Given the description of an element on the screen output the (x, y) to click on. 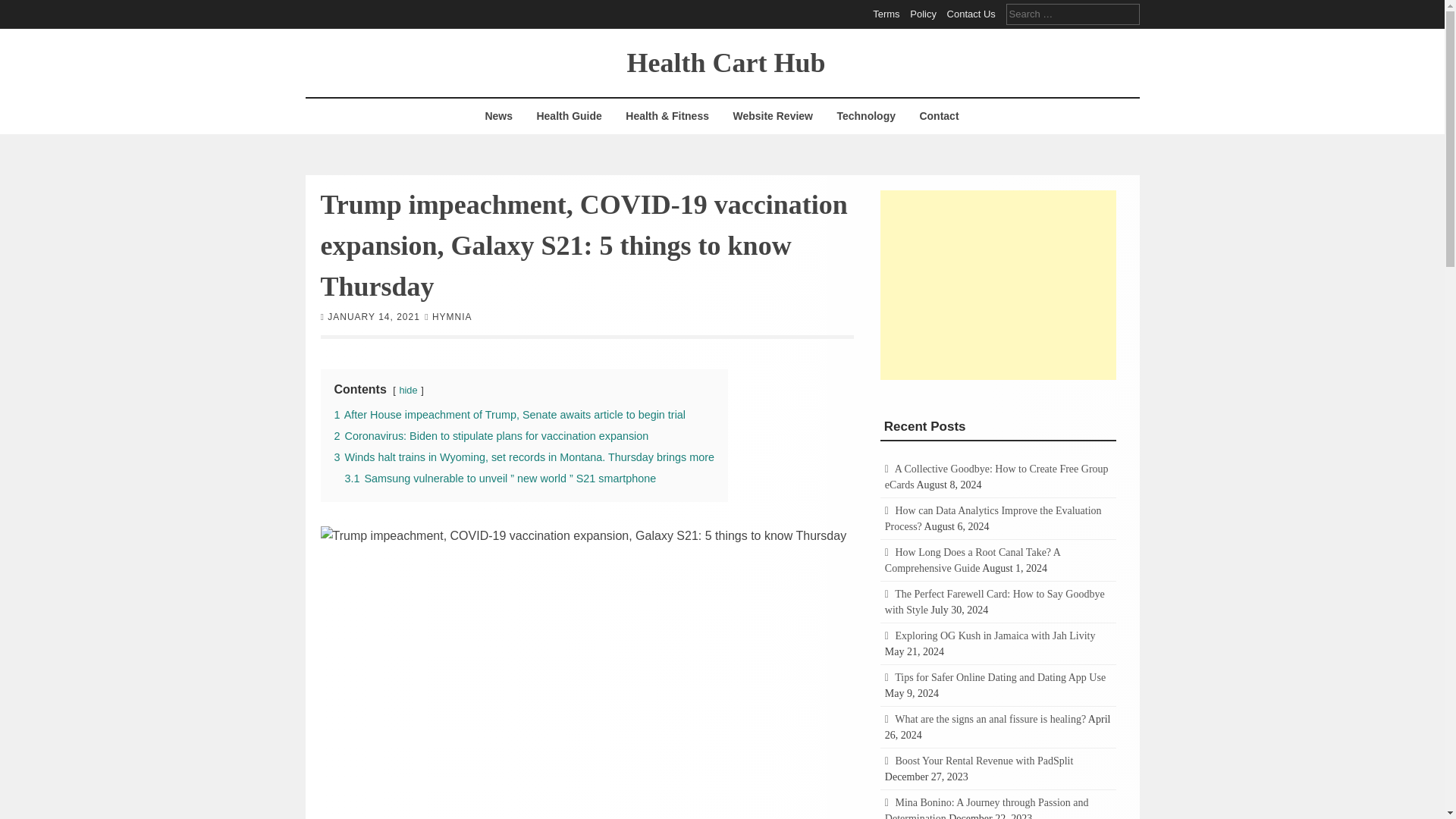
What are the signs an anal fissure is healing? (990, 718)
Advertisement (998, 284)
HYMNIA (451, 316)
Policy (923, 13)
JANUARY 14, 2021 (373, 316)
How can Data Analytics Improve the Evaluation Process? (993, 518)
Health Cart Hub (725, 61)
Technology (866, 116)
A Collective Goodbye: How to Create Free Group eCards (996, 476)
Contact Us (971, 13)
